Given the description of an element on the screen output the (x, y) to click on. 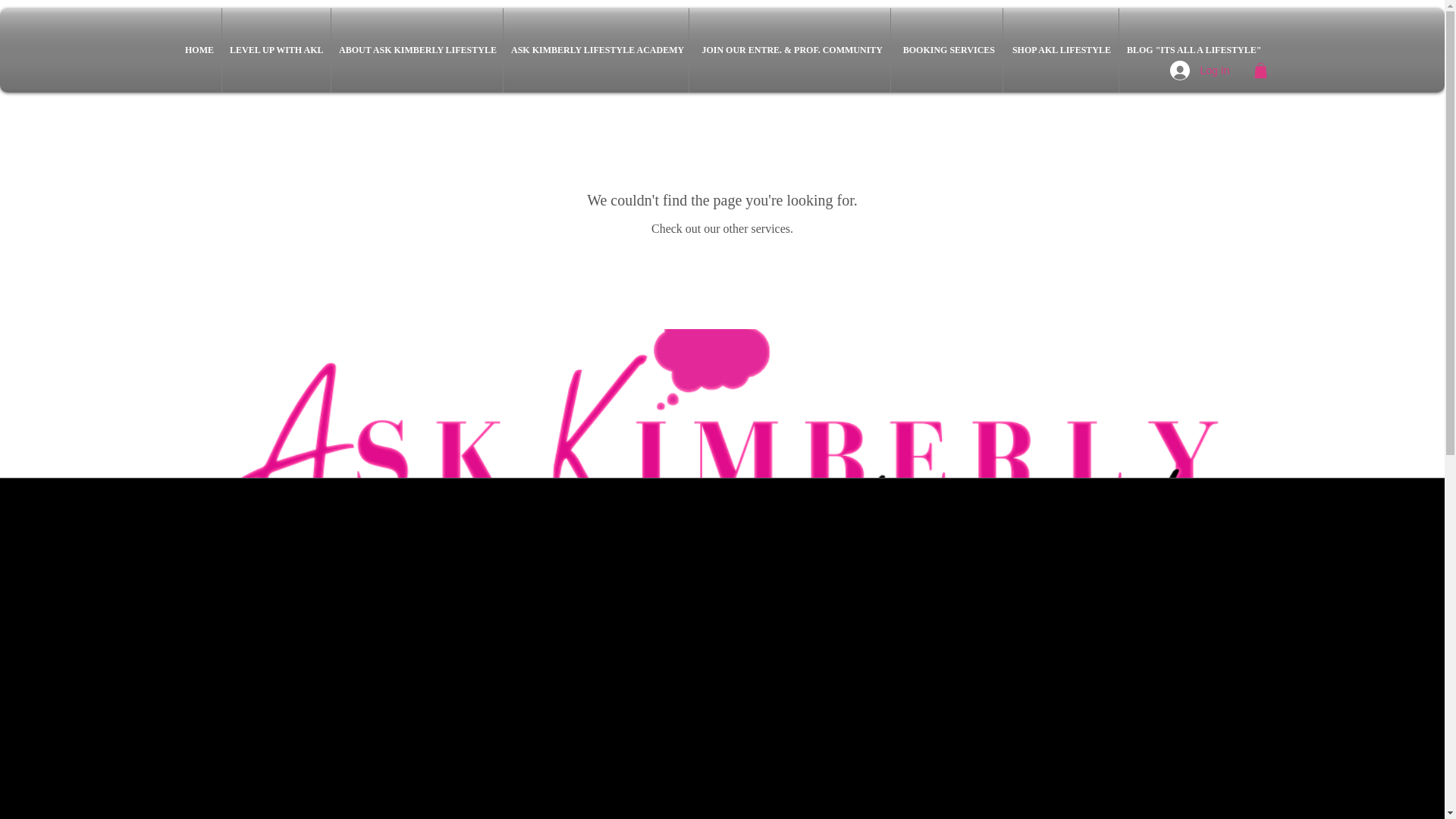
ASK KIMBERLY LIFESTYLE ACADEMY (595, 50)
BLOG "ITS ALL A LIFESTYLE" (1193, 50)
SHOP AKL LIFESTYLE (1060, 50)
ABOUT ASK KIMBERLY LIFESTYLE (416, 50)
Log In (1178, 70)
BOOKING SERVICES (947, 50)
LEVEL UP WITH AKL (276, 50)
